Given the description of an element on the screen output the (x, y) to click on. 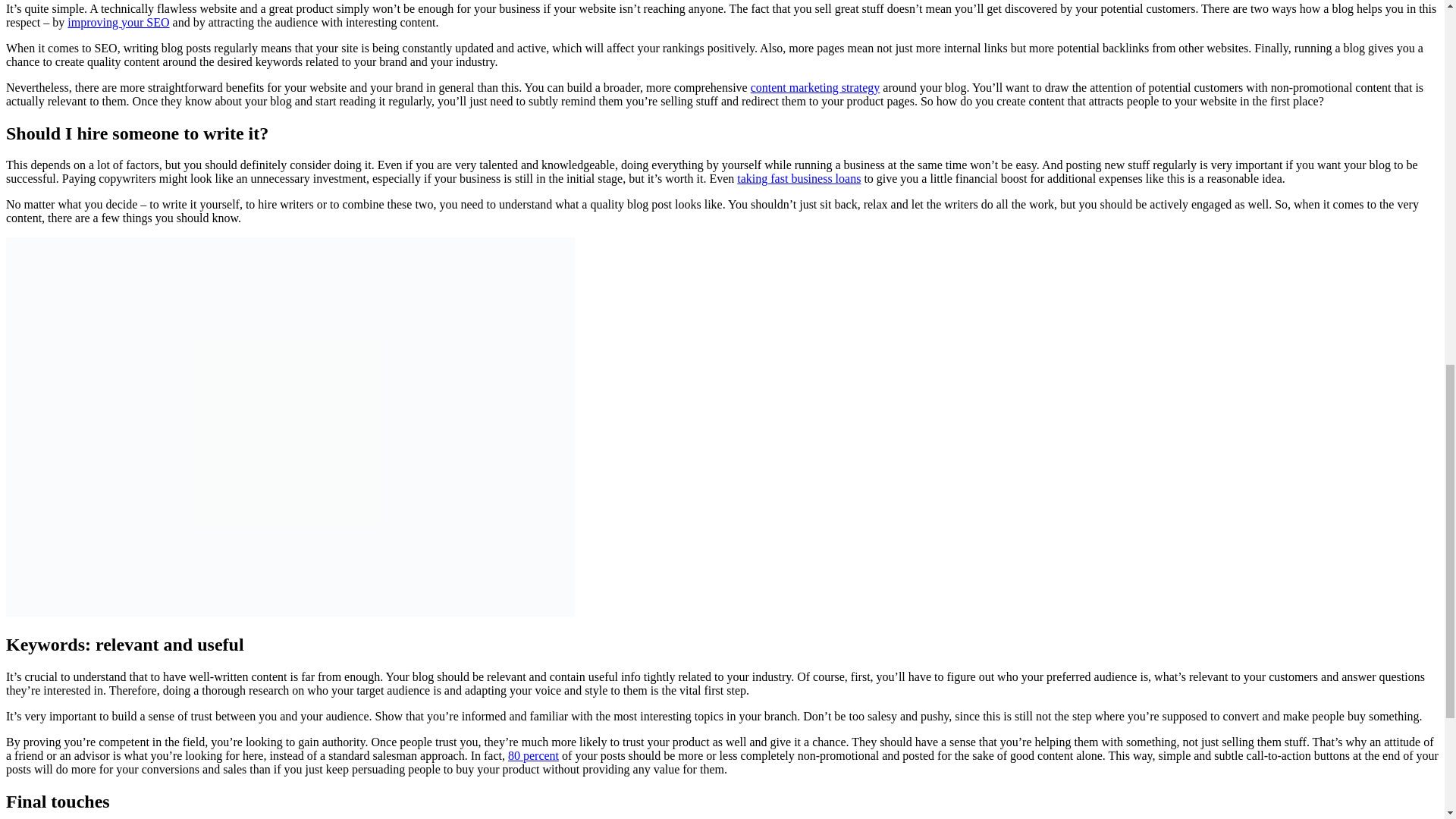
improving your SEO (117, 21)
content marketing strategy (815, 87)
taking fast business loans (798, 178)
80 percent (533, 755)
